Given the description of an element on the screen output the (x, y) to click on. 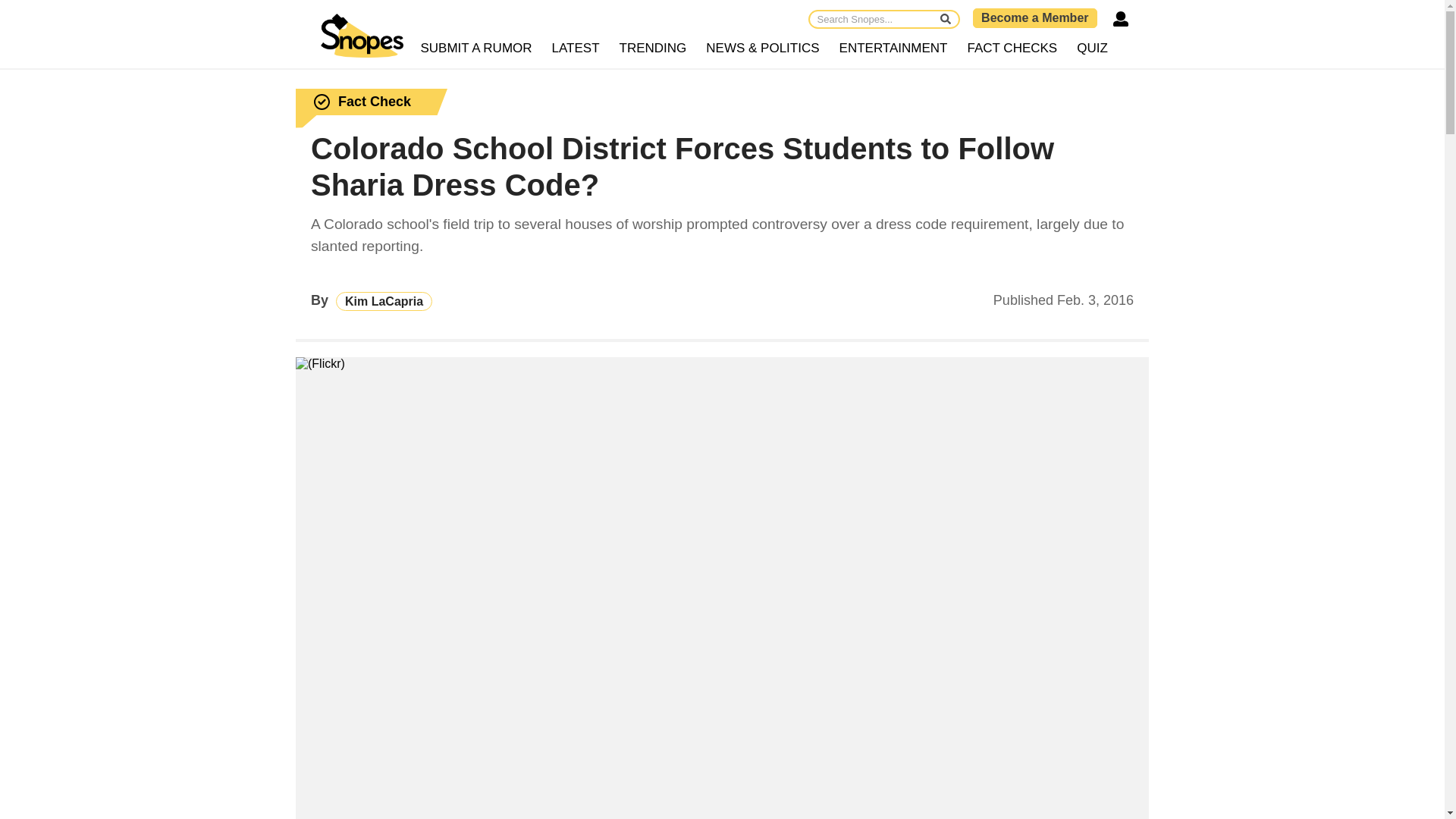
TRENDING (653, 47)
QUIZ (1092, 47)
Kim LaCapria (384, 301)
Become a Member (1034, 17)
SUBMIT A RUMOR (475, 47)
LATEST (576, 47)
ENTERTAINMENT (893, 47)
FACT CHECKS (1011, 47)
